Given the description of an element on the screen output the (x, y) to click on. 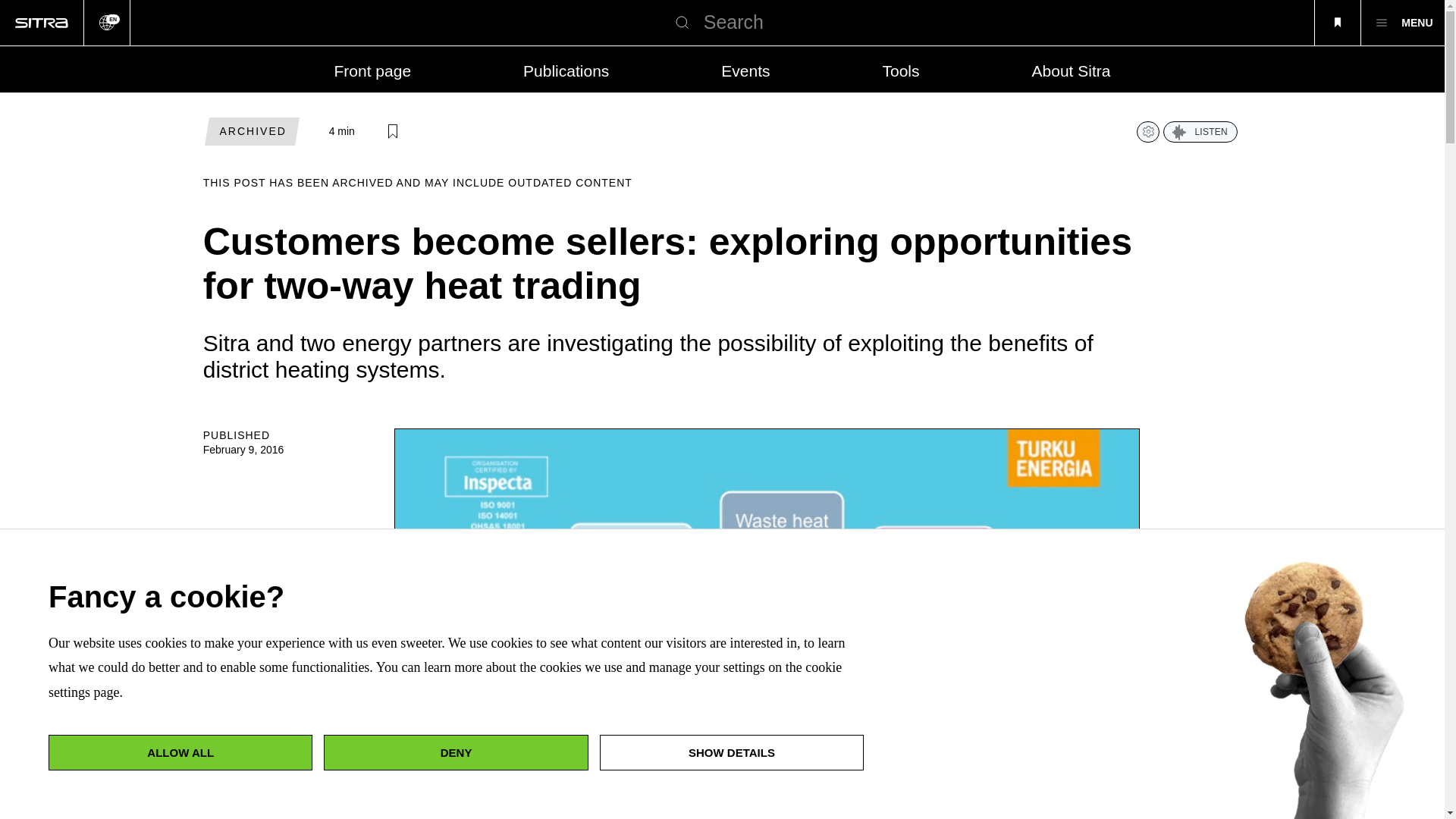
Search (682, 22)
Search (682, 22)
